Given the description of an element on the screen output the (x, y) to click on. 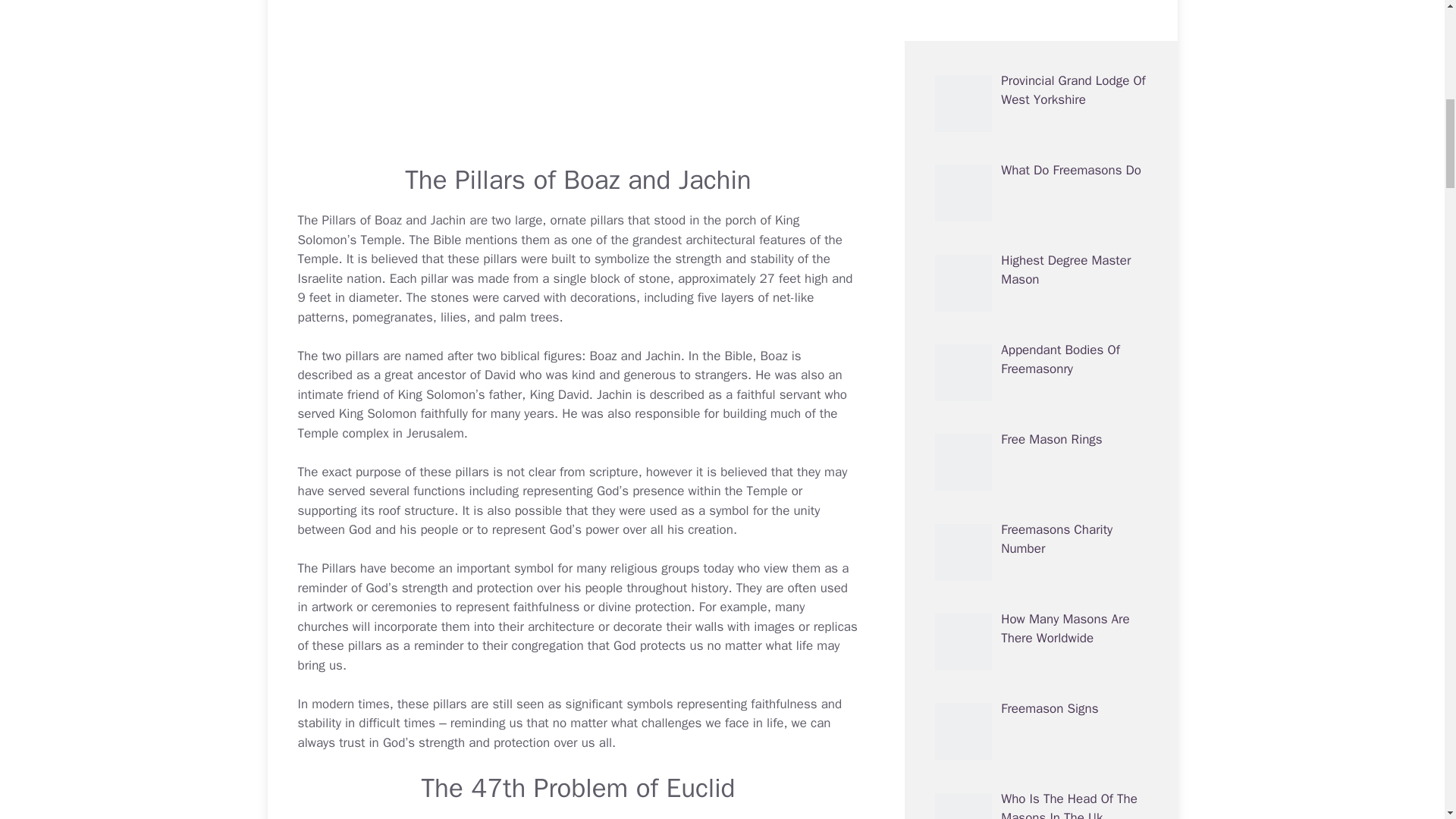
Scroll back to top (1406, 720)
What Are The Names Of The Two Pillars In Masonry (393, 355)
pillars are named (393, 355)
YouTube video player (577, 72)
What Is The Symbol For Faith Hope And Charity (721, 703)
symbols representing faithfulness (721, 703)
